Given the description of an element on the screen output the (x, y) to click on. 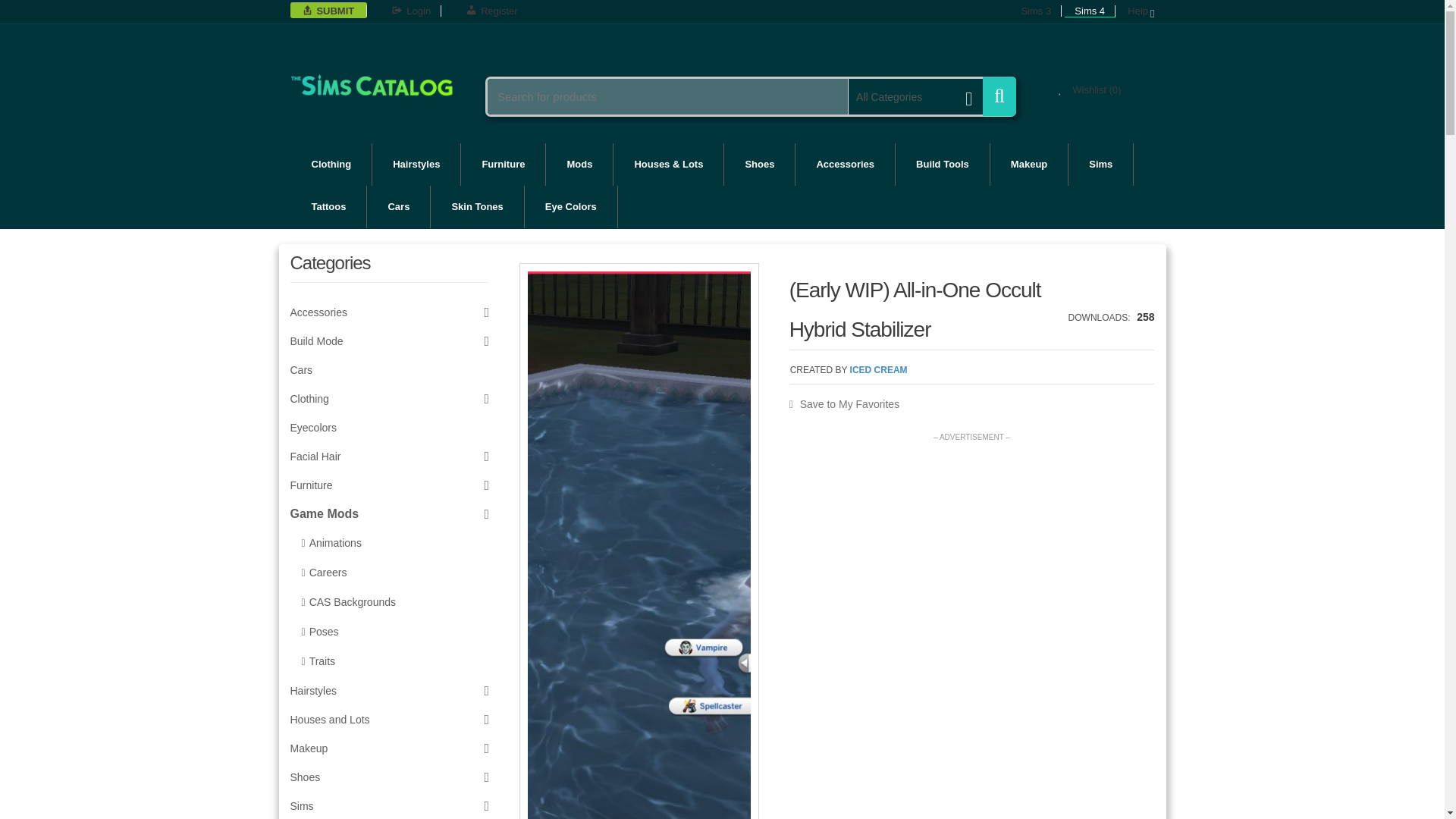
Login (411, 10)
Sims 3 (1035, 10)
Register (491, 10)
Register (491, 10)
Sims 4 (1089, 10)
Login (411, 10)
Help (1136, 11)
SUBMIT (334, 10)
Sims 4 (1089, 10)
SUBMIT (334, 10)
